Given the description of an element on the screen output the (x, y) to click on. 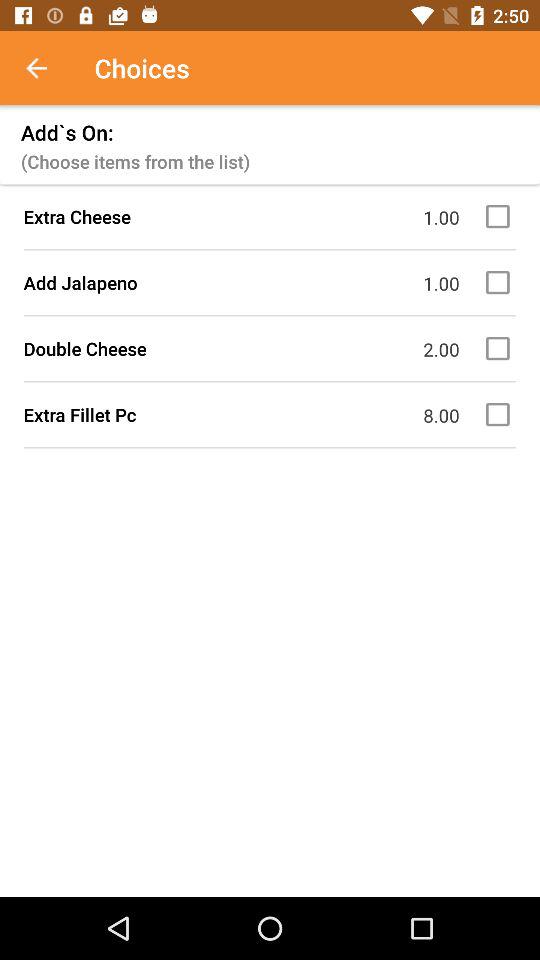
add extra cheese (501, 216)
